Given the description of an element on the screen output the (x, y) to click on. 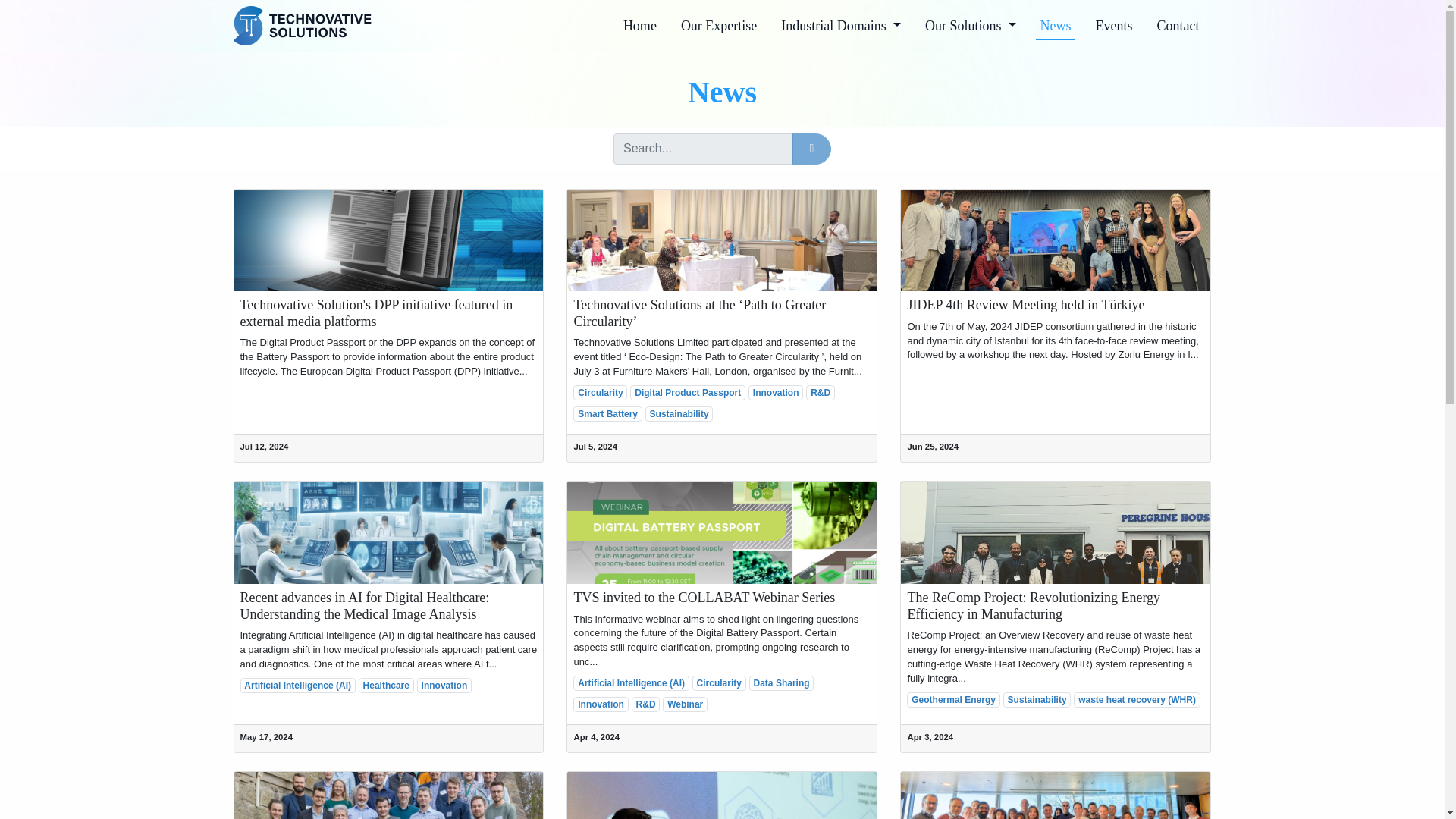
Home (639, 26)
Events (1113, 26)
Sustainability (679, 413)
Digital Product Passport (687, 392)
Our Solutions (969, 26)
Industrial Domains (840, 26)
Innovation (443, 685)
Healthcare (385, 685)
Innovation (775, 392)
Contact (1177, 26)
Circularity (600, 392)
Our Expertise (718, 26)
